Given the description of an element on the screen output the (x, y) to click on. 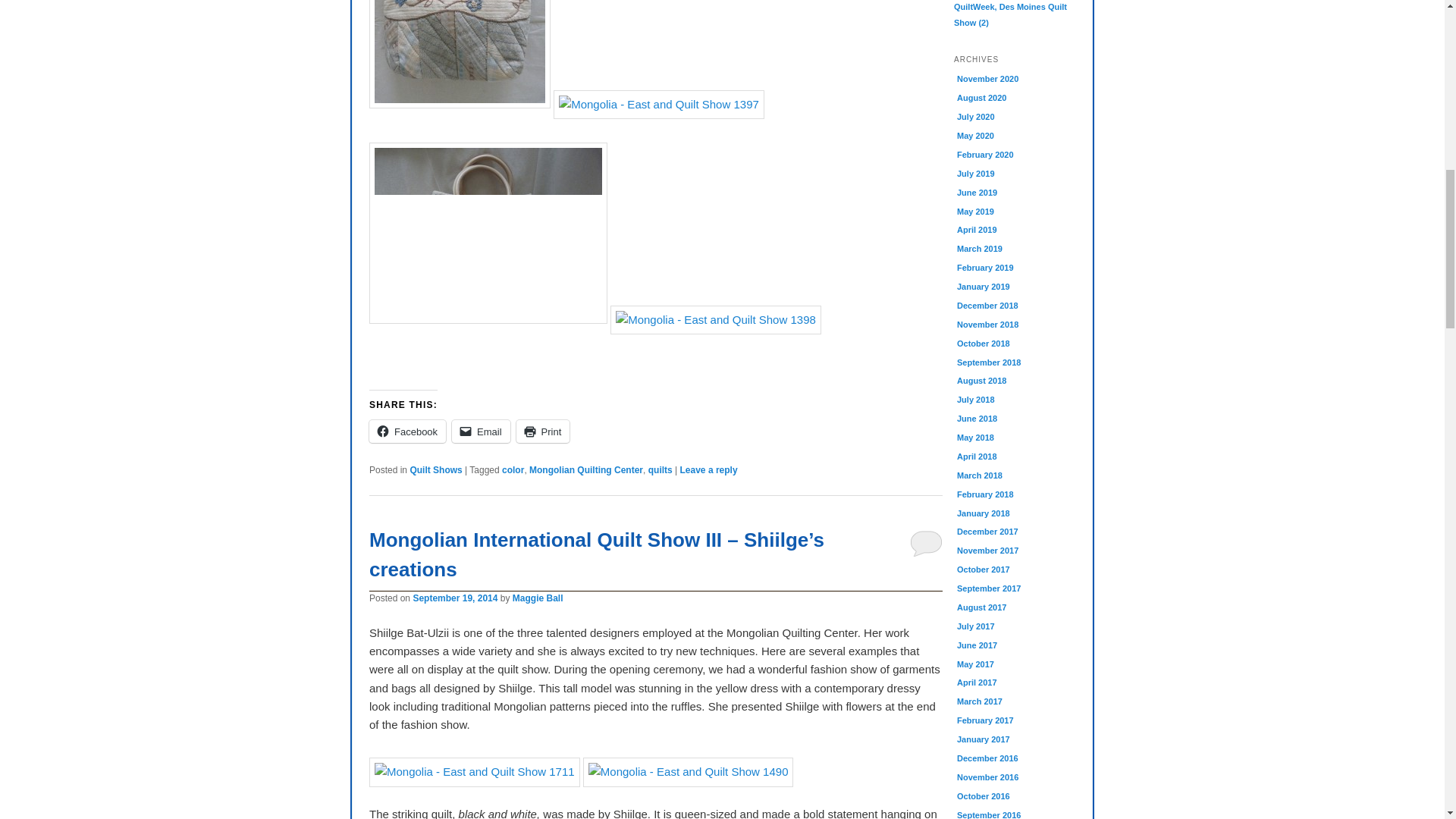
Click to share on Facebook (407, 431)
View all posts by Maggie Ball (537, 597)
12:23 pm (454, 597)
Click to print (543, 431)
Click to email a link to a friend (481, 431)
